Given the description of an element on the screen output the (x, y) to click on. 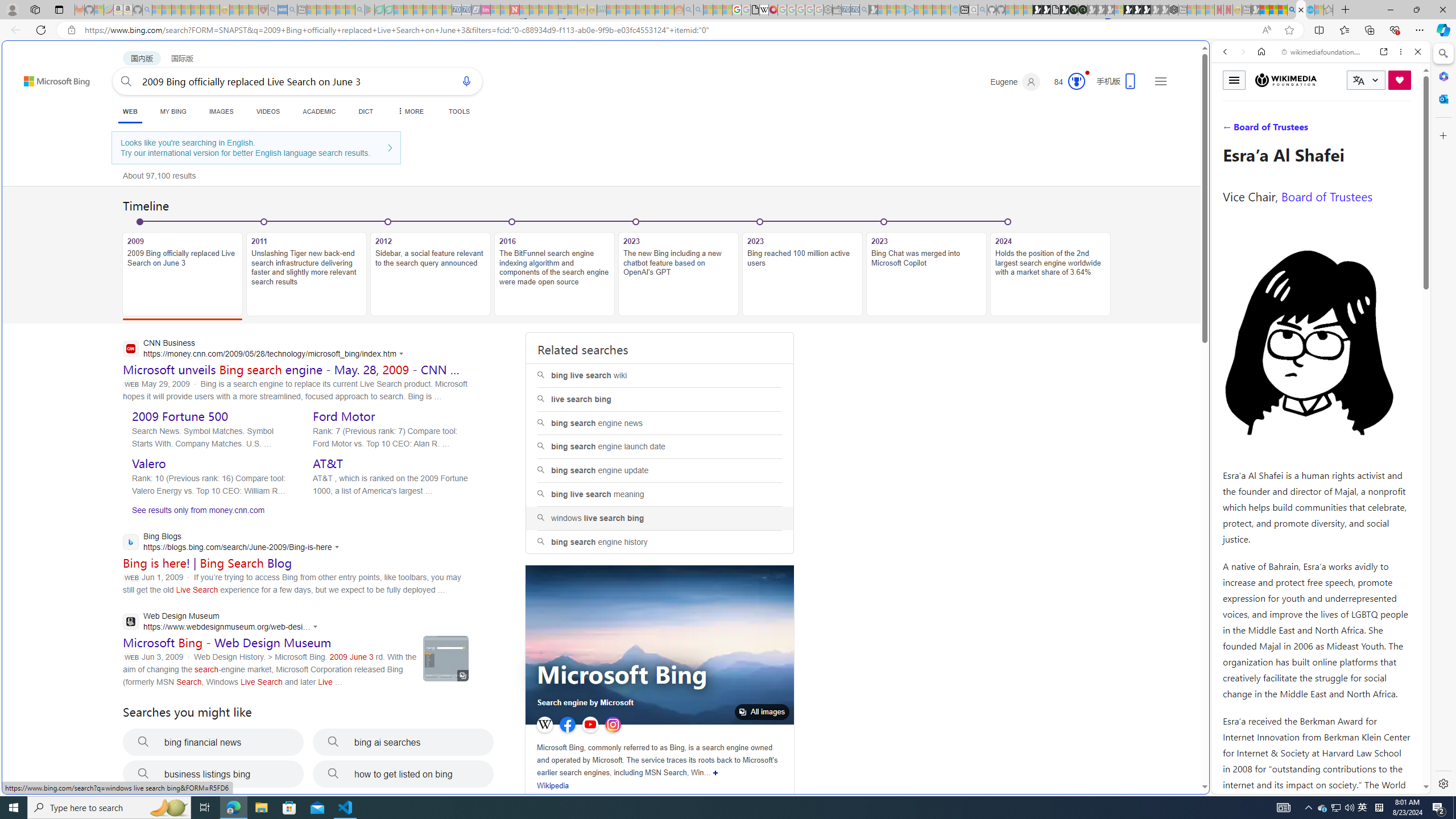
Dropdown Menu (410, 111)
Expert Portfolios - Sleeping (639, 9)
bing live search wiki (659, 375)
Instagram (613, 724)
windows live search bing (659, 518)
wikimediafoundation.org (1323, 51)
Donate now (1399, 80)
MSNBC - MSN - Sleeping (611, 9)
